Given the description of an element on the screen output the (x, y) to click on. 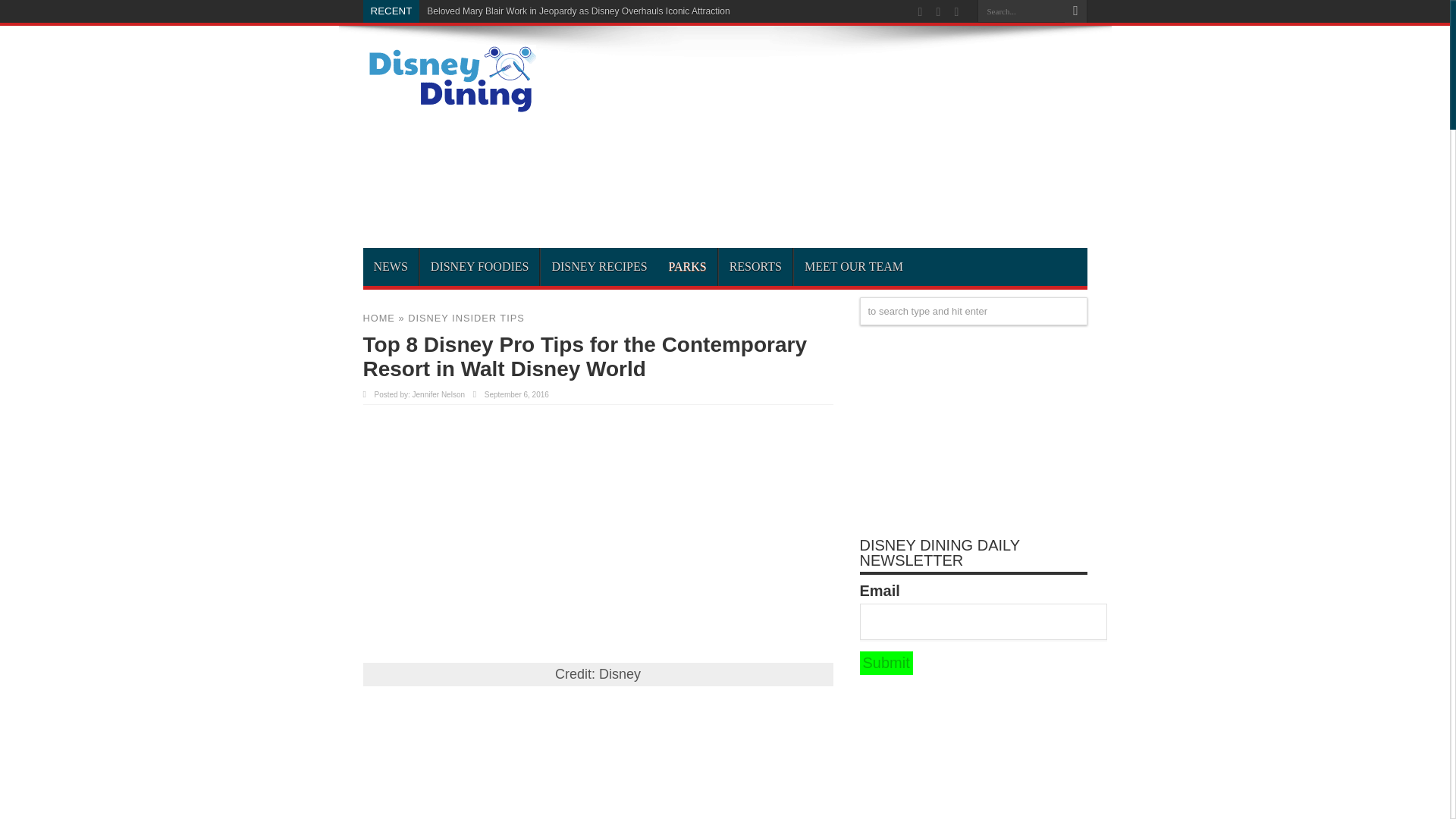
NEWS (389, 266)
PARKS (687, 266)
DISNEY INSIDER TIPS (465, 317)
Disney Dining (448, 107)
DISNEY RECIPES (599, 266)
MEET OUR TEAM (853, 266)
Search (1075, 11)
Submit (886, 662)
to search type and hit enter (973, 311)
